Given the description of an element on the screen output the (x, y) to click on. 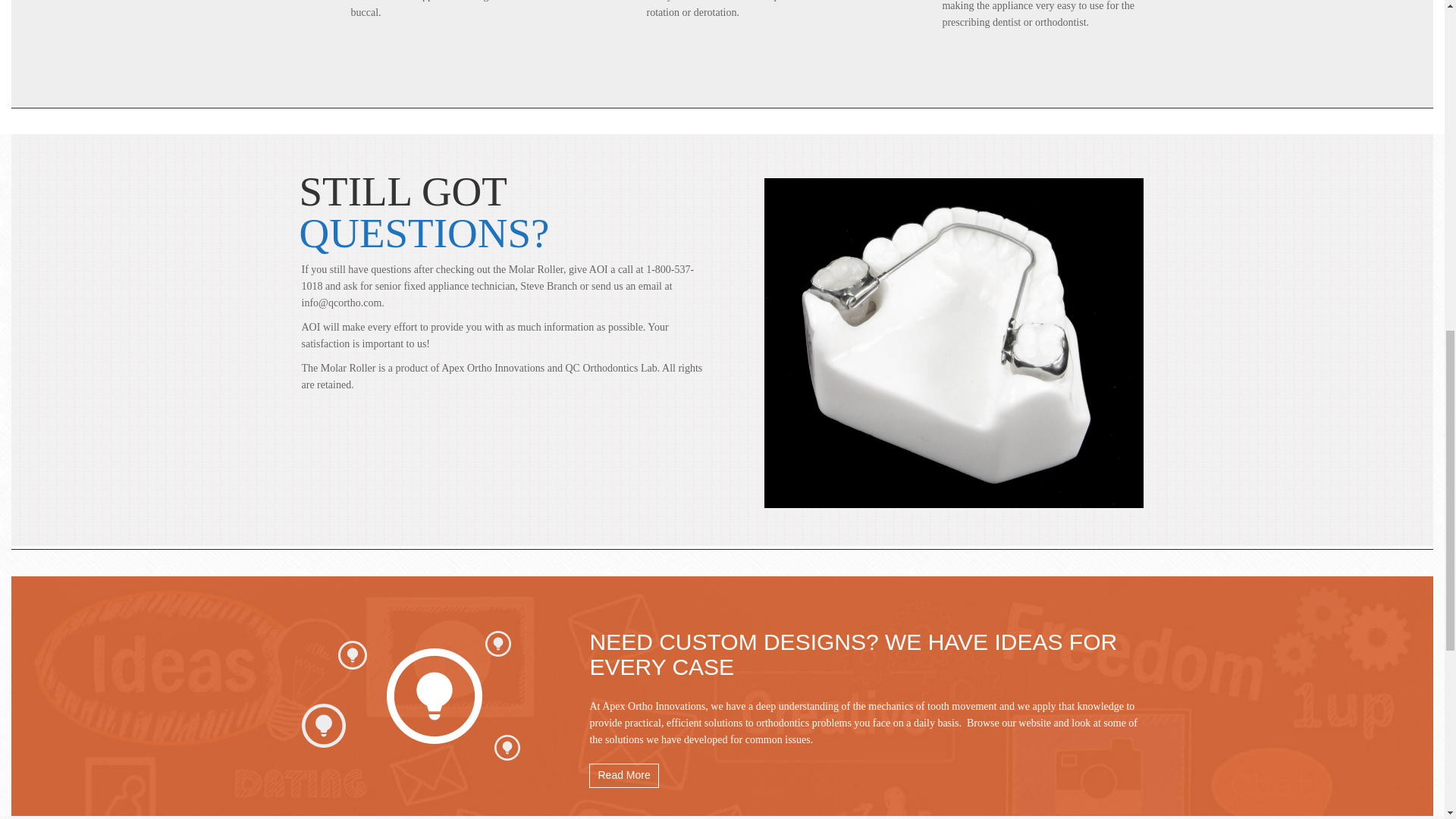
Read More (623, 775)
